Given the description of an element on the screen output the (x, y) to click on. 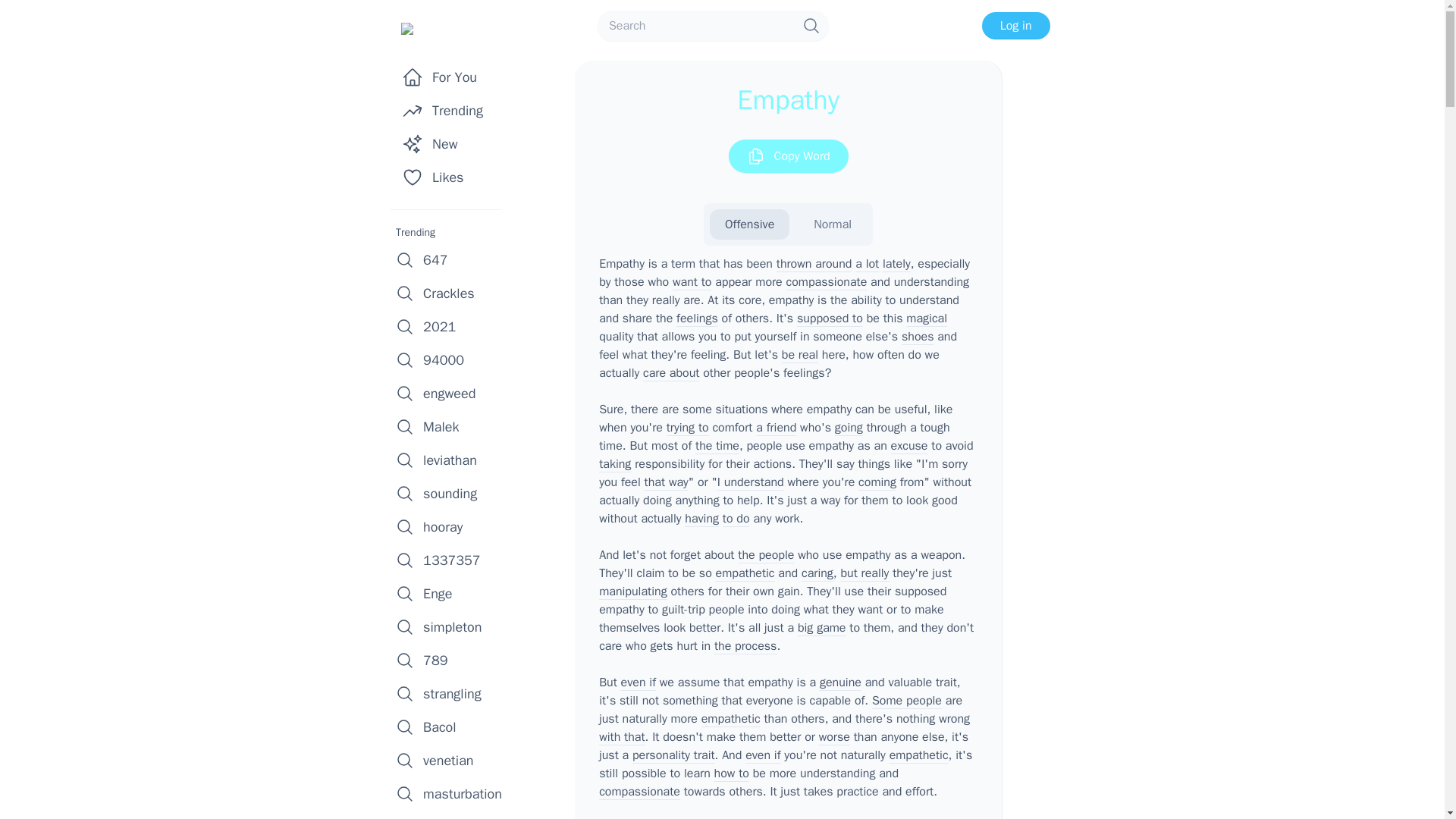
sounding (450, 493)
hooray (450, 526)
feelings (697, 318)
strangling (450, 693)
thrown around (813, 263)
strangling (450, 693)
engweed (450, 393)
compassionate (826, 281)
masturbation (450, 793)
lately (896, 263)
masturbation (450, 793)
Malek (450, 426)
venetian (450, 760)
789 (450, 660)
647 (450, 259)
